Given the description of an element on the screen output the (x, y) to click on. 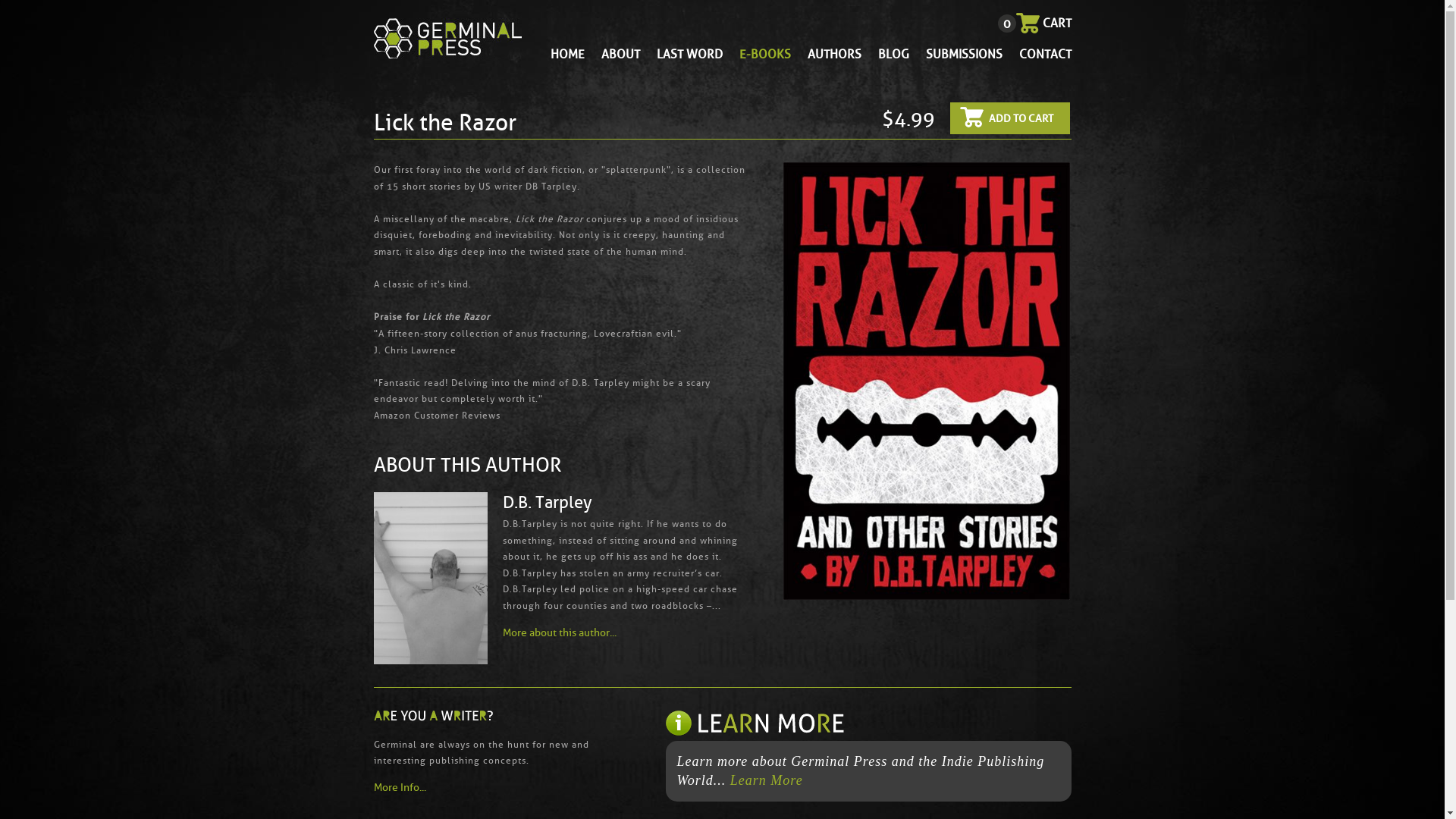
LAST WORD Element type: text (689, 54)
SUBMISSIONS Element type: text (963, 54)
E-BOOKS Element type: text (764, 54)
CONTACT Element type: text (1045, 54)
HOME Element type: text (567, 54)
Learn More Element type: text (766, 779)
0
CART Element type: text (1043, 22)
ADD TO CART Element type: text (1009, 118)
AUTHORS Element type: text (833, 54)
More Info... Element type: text (484, 787)
BLOG Element type: text (893, 54)
More about this author... Element type: text (558, 632)
ABOUT Element type: text (619, 54)
